Given the description of an element on the screen output the (x, y) to click on. 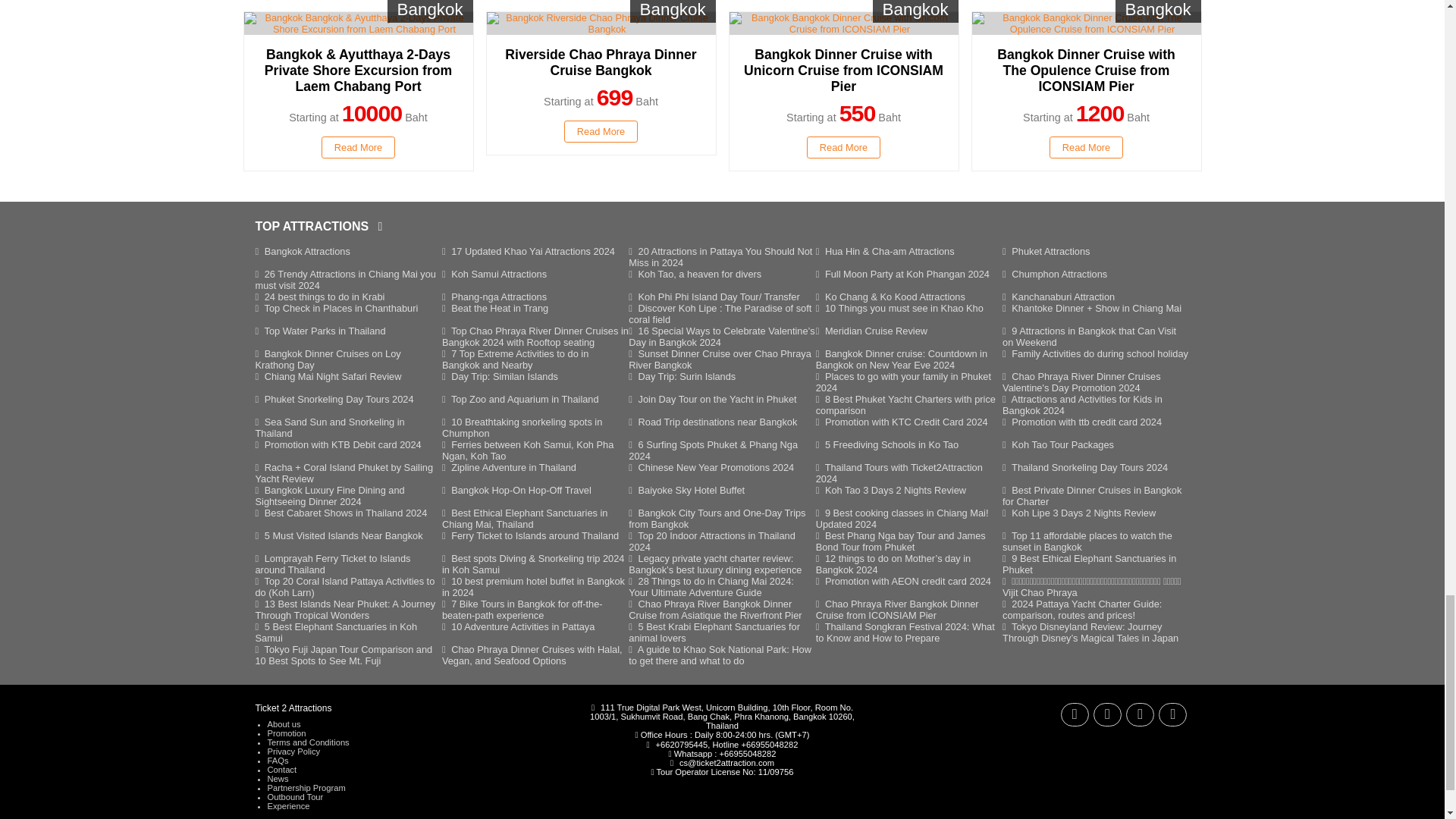
Bangkok (358, 23)
Bangkok Riverside Chao Phraya Dinner Cruise Bangkok (601, 23)
